Given the description of an element on the screen output the (x, y) to click on. 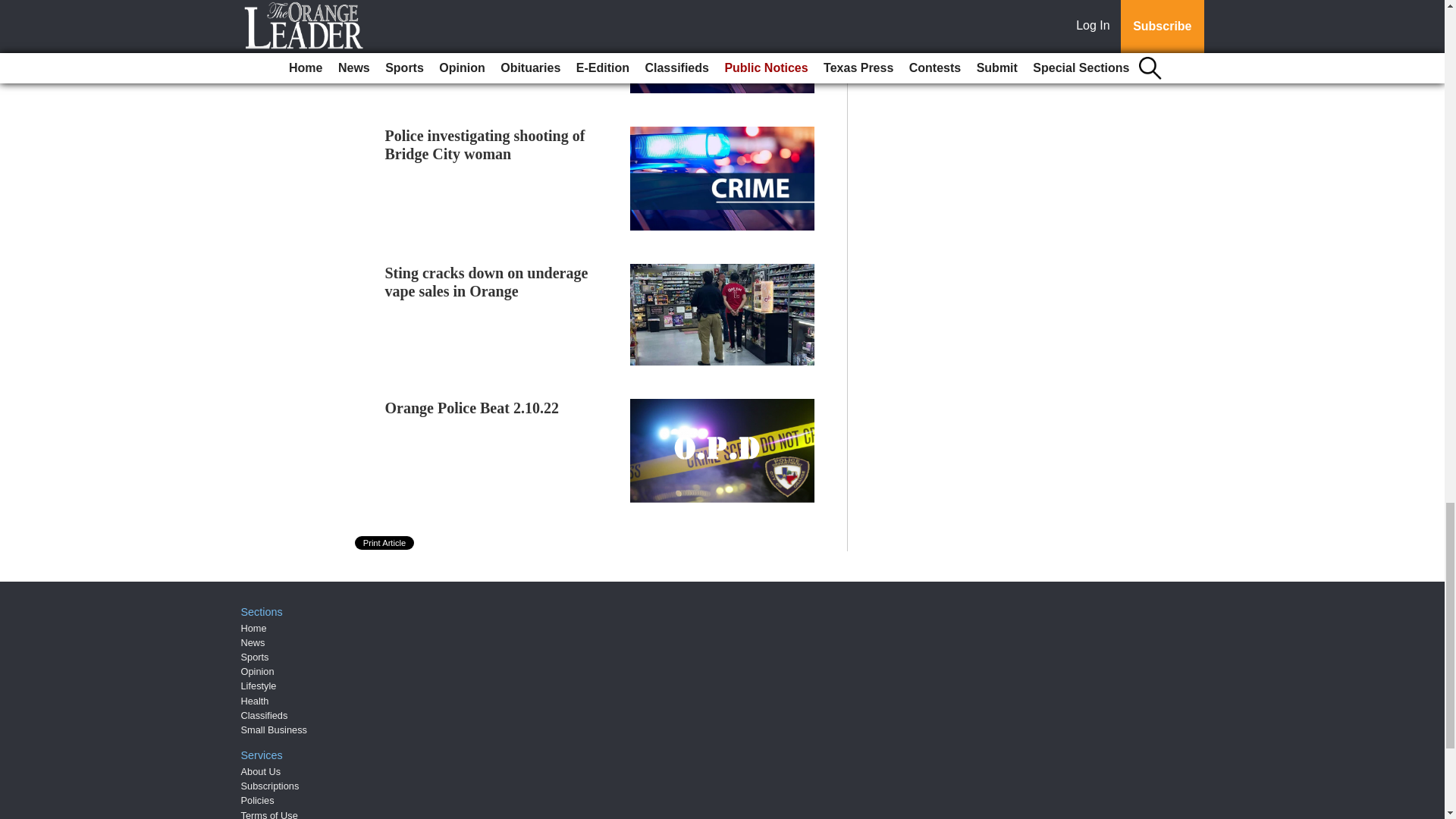
Man sentenced for 2022 Vidor carjacking (482, 12)
Police investigating shooting of Bridge City woman (485, 144)
Orange Police Beat 2.10.22 (472, 407)
Police investigating shooting of Bridge City woman (485, 144)
Print Article (384, 542)
Orange Police Beat 2.10.22 (472, 407)
Man sentenced for 2022 Vidor carjacking (482, 12)
Sting cracks down on underage vape sales in Orange (486, 281)
Sting cracks down on underage vape sales in Orange (486, 281)
